Given the description of an element on the screen output the (x, y) to click on. 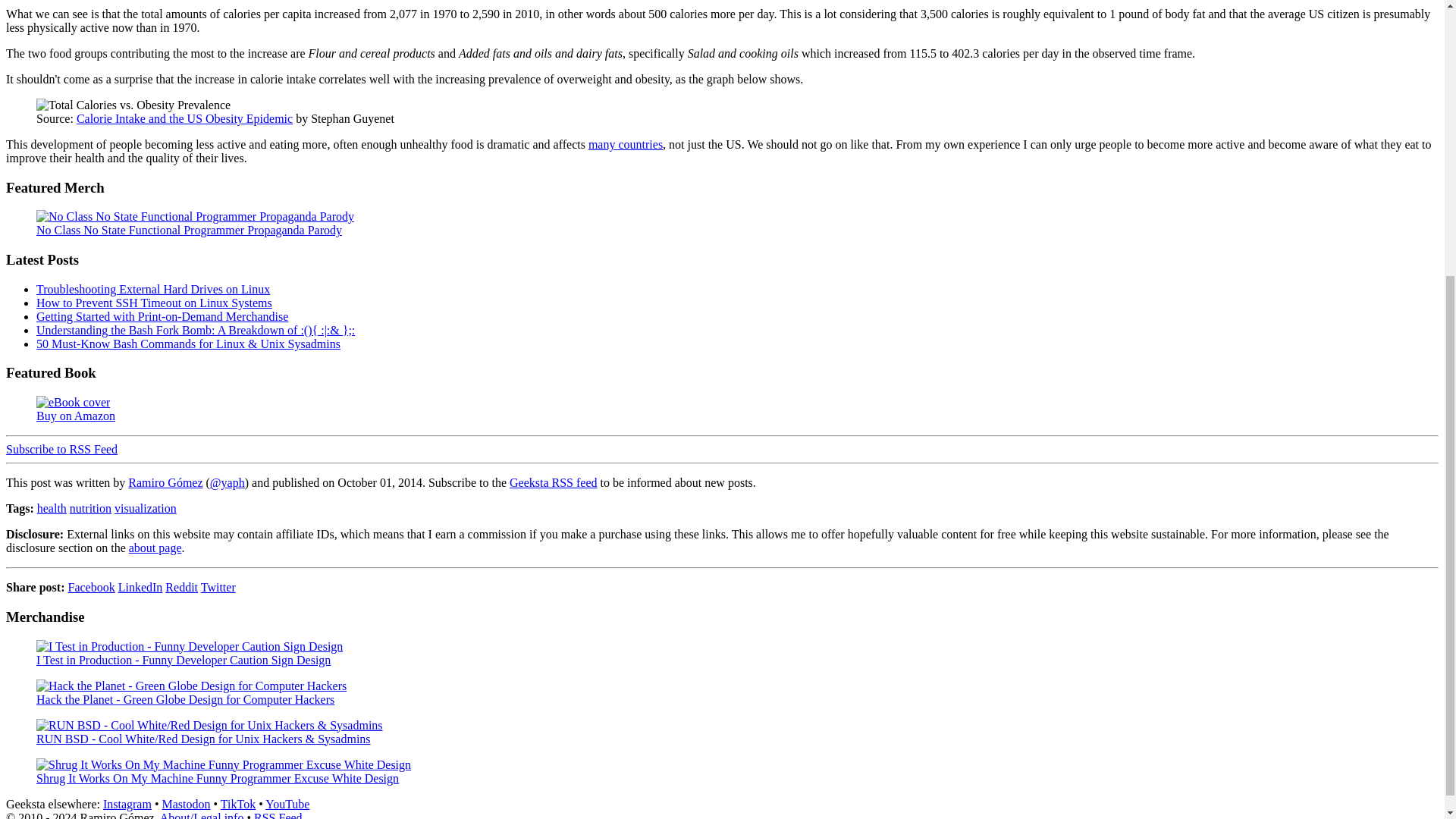
I Test in Production - Funny Developer Caution Sign Design (721, 653)
nutrition (90, 508)
Buy on Amazon (721, 409)
Geeksta RSS feed (552, 481)
visualization (145, 508)
Twitter (217, 586)
How to Prevent SSH Timeout on Linux Systems (154, 302)
Subscribe to RSS Feed (61, 449)
LinkedIn (140, 586)
